Given the description of an element on the screen output the (x, y) to click on. 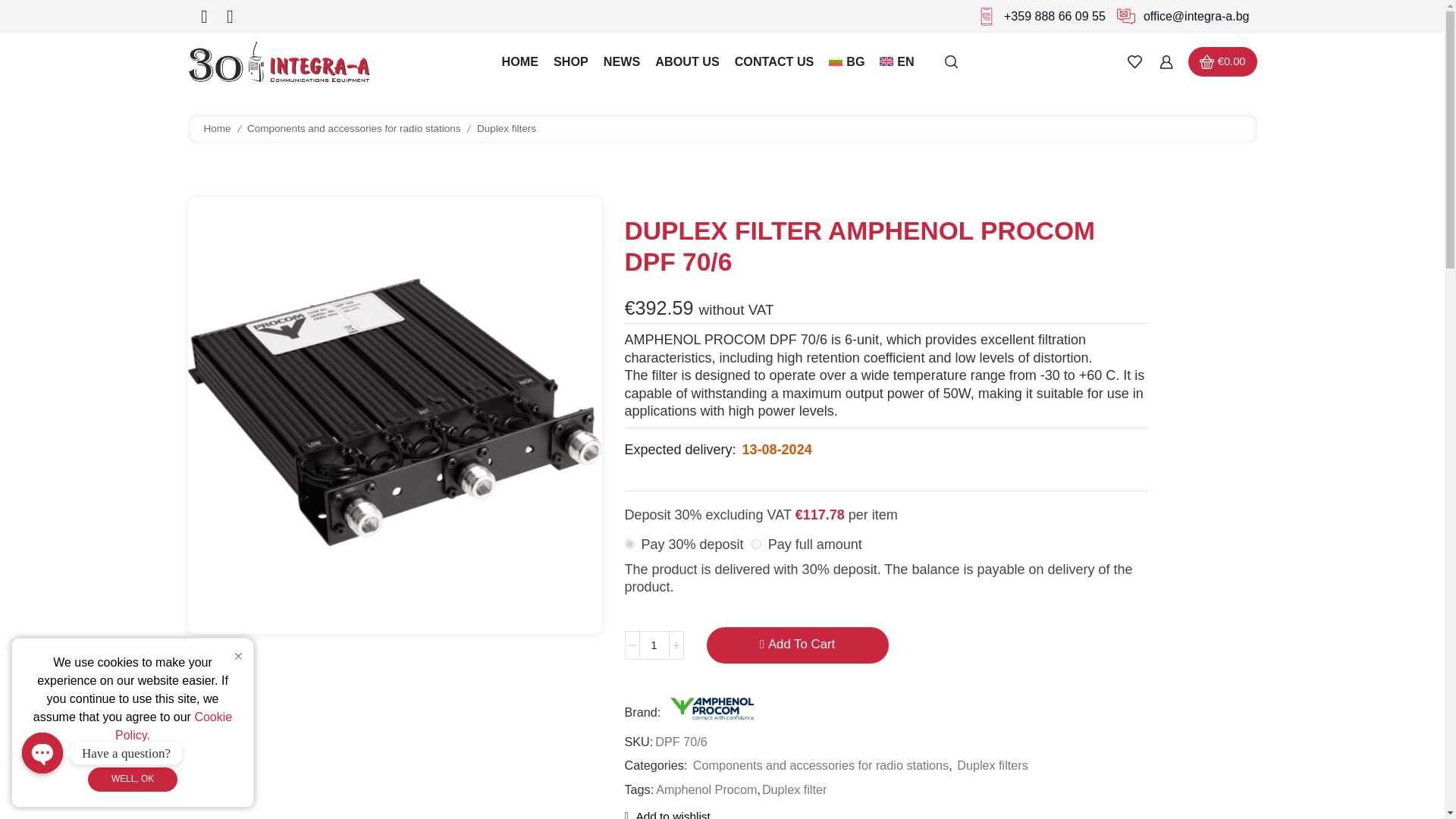
EN (896, 61)
full (756, 543)
EN (896, 61)
BG (846, 61)
SHOP (570, 61)
HOME (520, 61)
deposit (629, 543)
NEWS (621, 61)
CONTACT US (774, 61)
ABOUT US (686, 61)
1 (654, 645)
BG (846, 61)
